Given the description of an element on the screen output the (x, y) to click on. 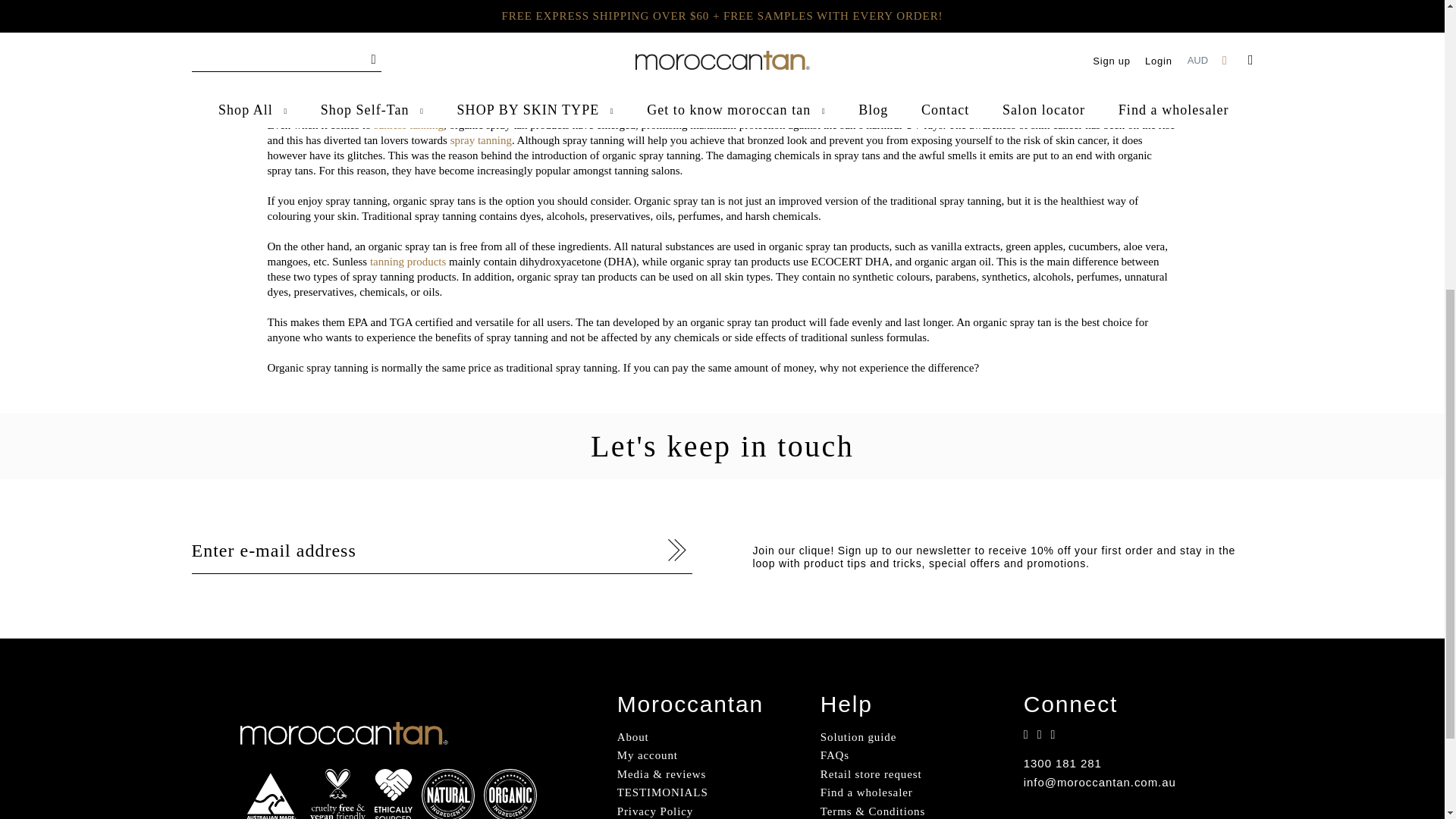
Spray Tanning (480, 140)
Tanning Products (407, 261)
Sunless Tanning (409, 124)
Enter e-mail address (440, 551)
Go (678, 549)
